Given the description of an element on the screen output the (x, y) to click on. 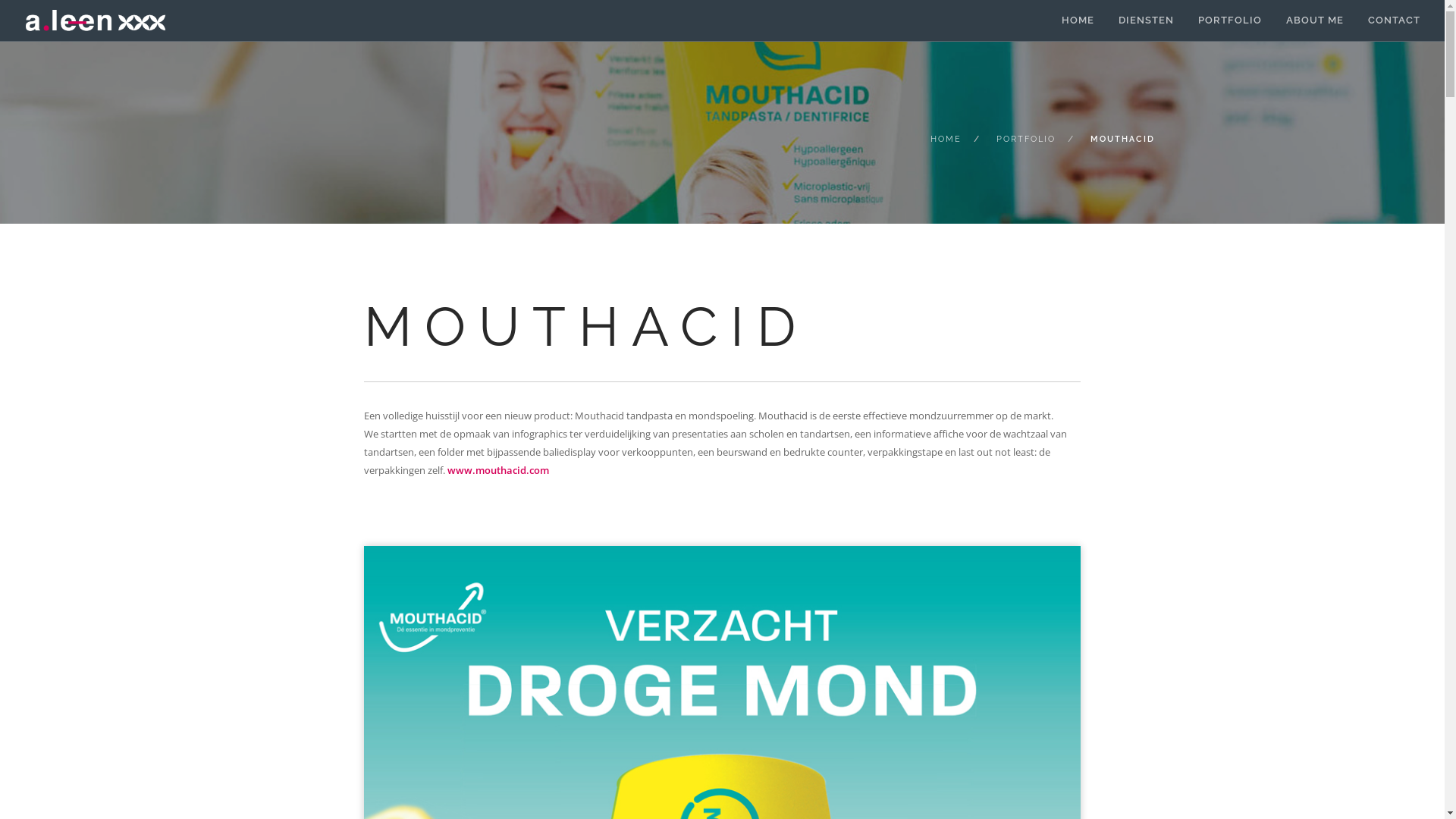
DIENSTEN Element type: text (1145, 20)
PORTFOLIO Element type: text (1229, 20)
www.mouthacid.com Element type: text (498, 469)
HOME Element type: text (1077, 20)
HOME Element type: text (944, 139)
ABOUT ME Element type: text (1314, 20)
PORTFOLIO Element type: text (1025, 139)
CONTACT Element type: text (1394, 20)
